Given the description of an element on the screen output the (x, y) to click on. 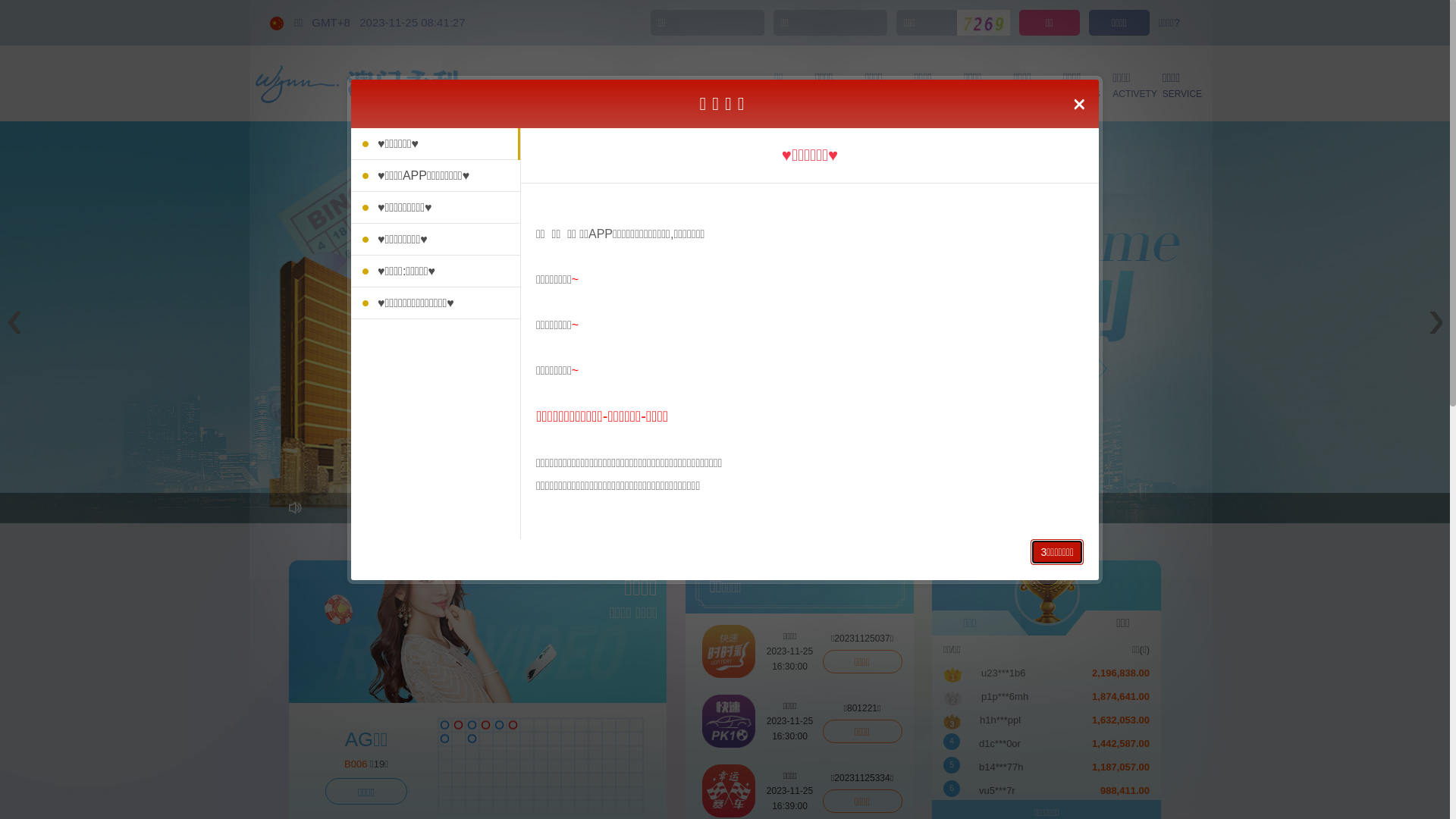
GMT+8   2023-11-25 08:41:26 Element type: text (387, 21)
